Given the description of an element on the screen output the (x, y) to click on. 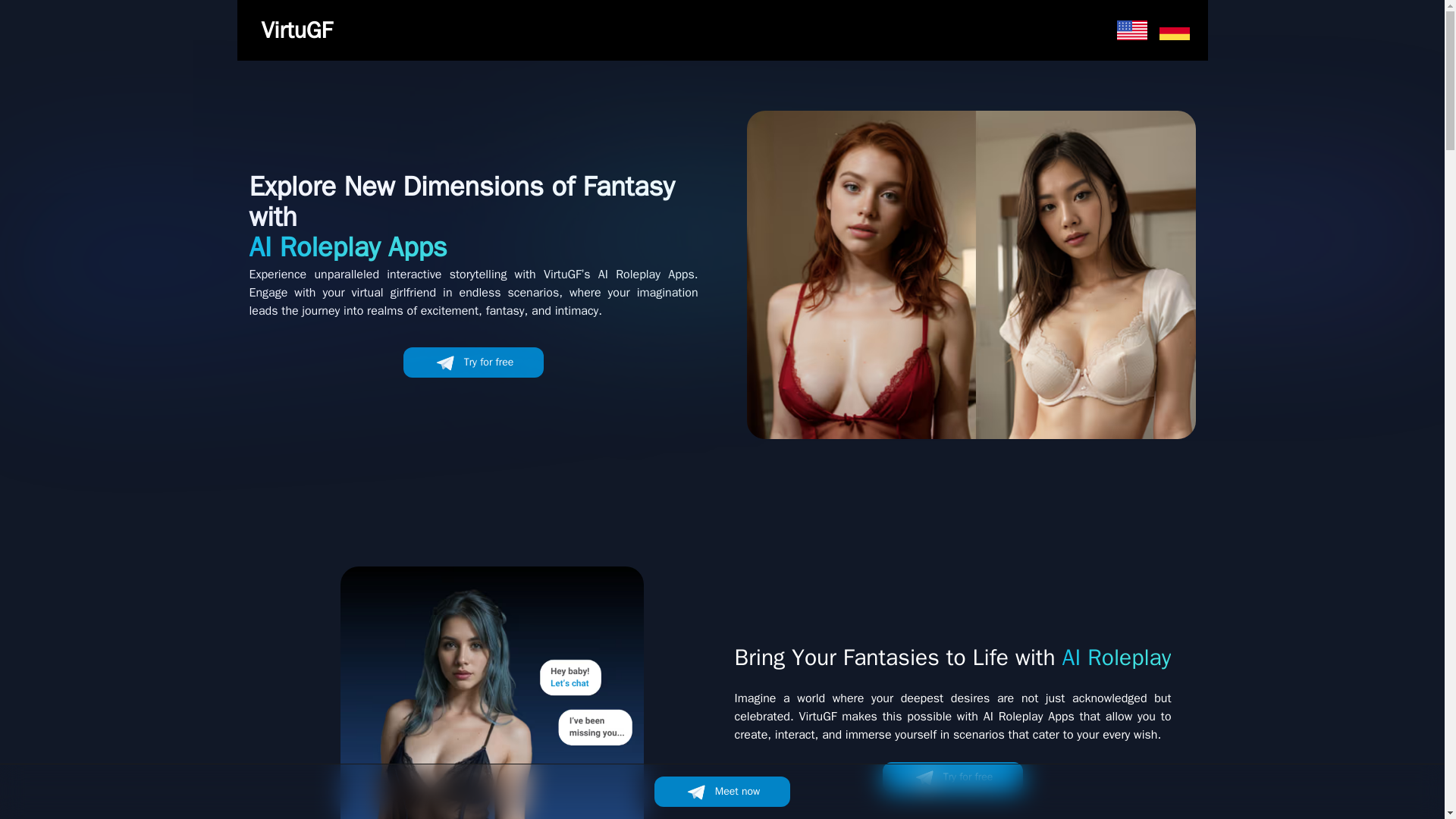
AI girlfriend (491, 692)
VirtuGF (295, 29)
Try for free (952, 777)
Try for free (473, 362)
